Given the description of an element on the screen output the (x, y) to click on. 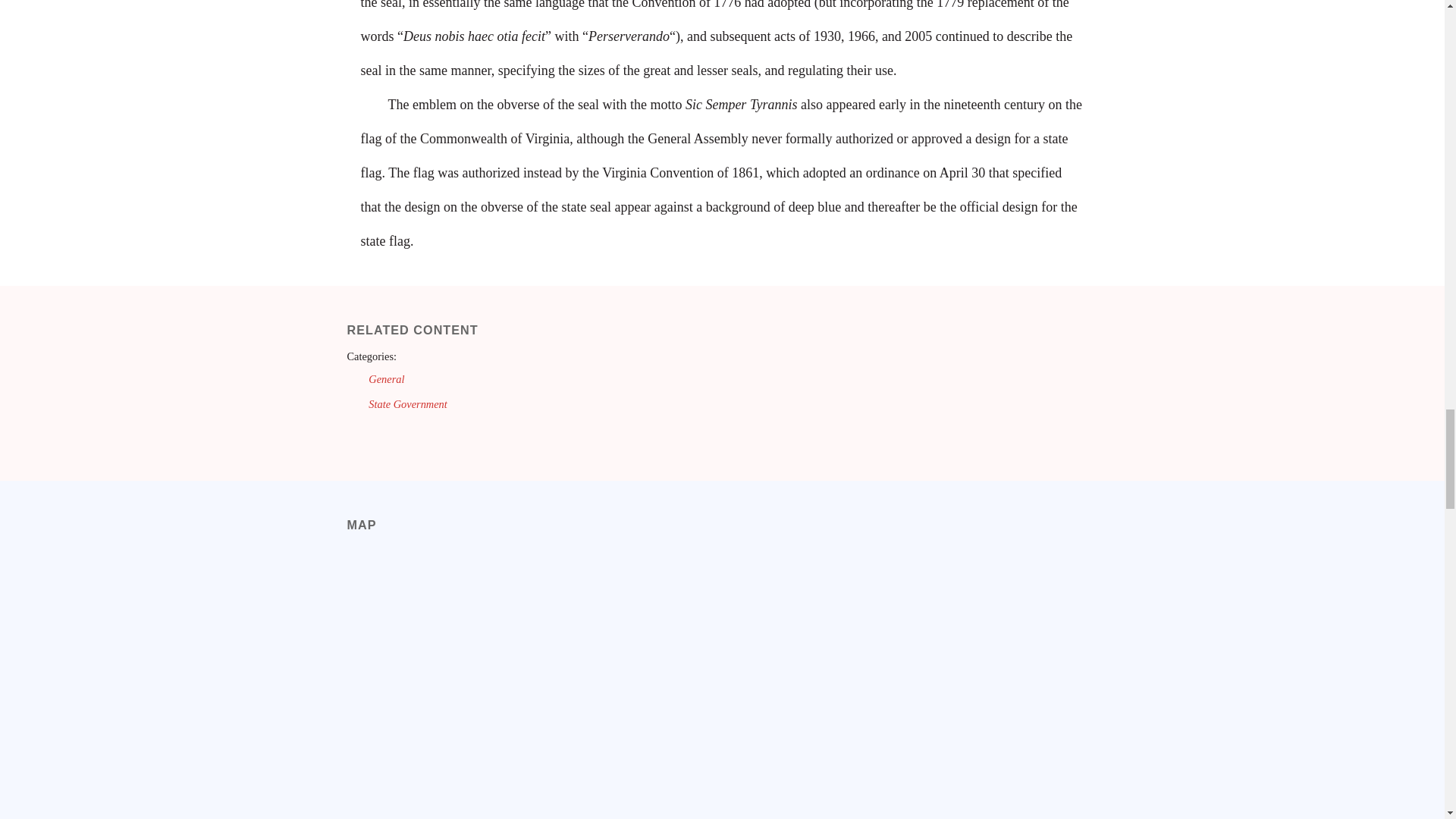
General (386, 378)
